Given the description of an element on the screen output the (x, y) to click on. 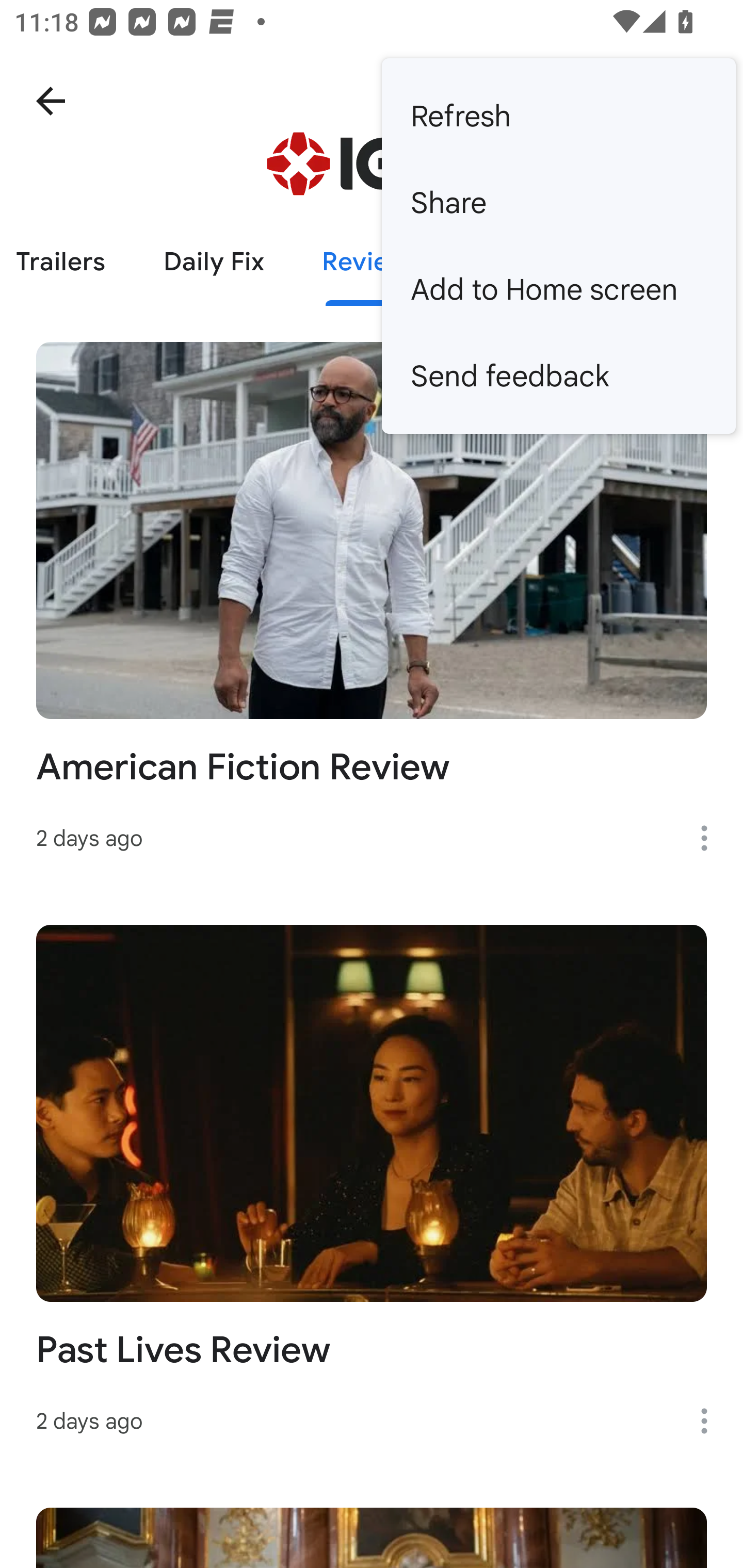
Refresh (558, 115)
Share (558, 202)
Add to Home screen (558, 289)
Send feedback (558, 375)
